Given the description of an element on the screen output the (x, y) to click on. 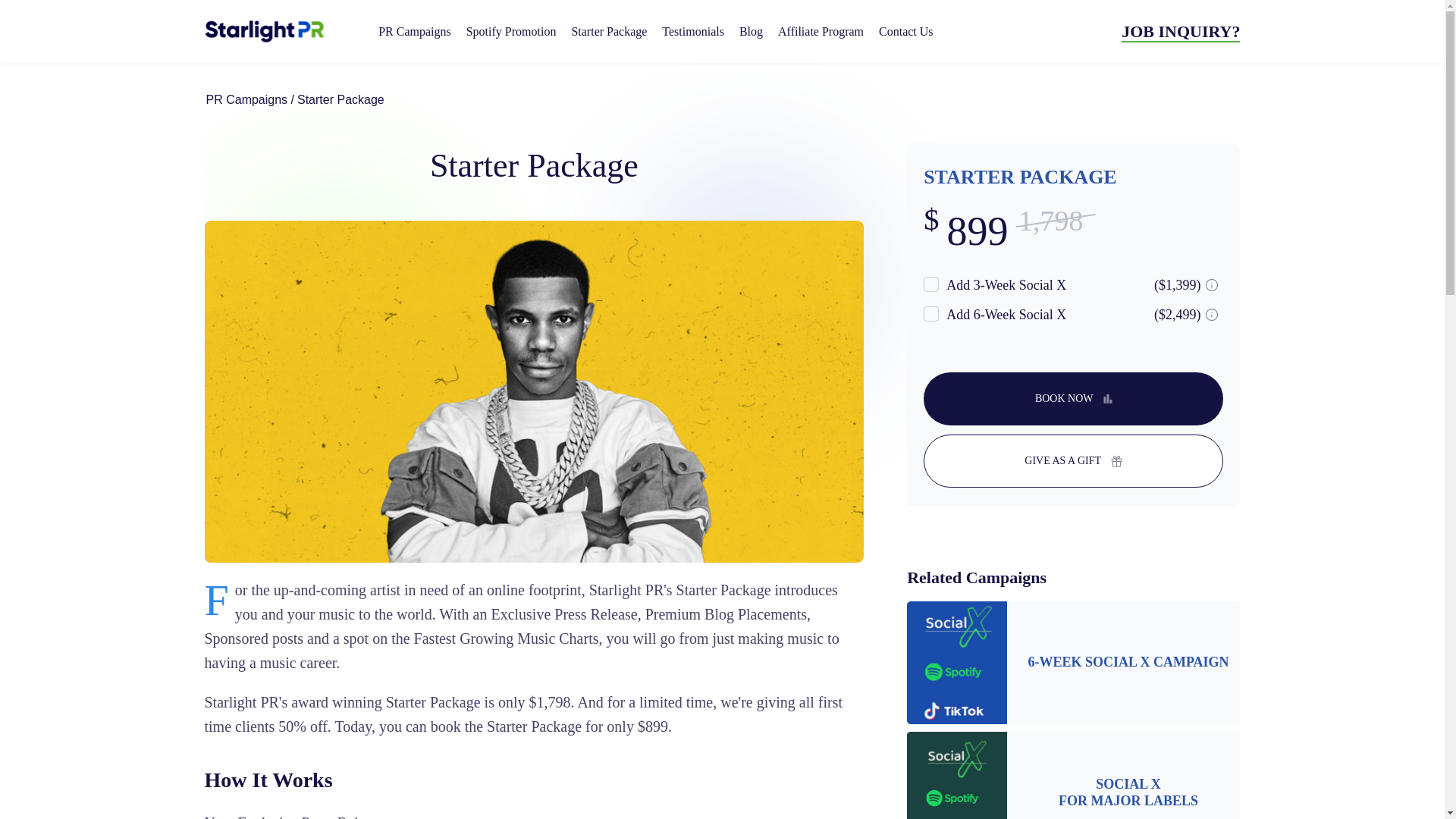
Spotify Promotion (511, 30)
Starter Package (608, 30)
PR Campaigns (1128, 792)
Contact Us (414, 30)
BOOK NOW (905, 30)
Blog (1073, 398)
JOB INQUIRY? (751, 30)
6-WEEK SOCIAL X CAMPAIGN (1180, 32)
Starter Package (1128, 662)
